Given the description of an element on the screen output the (x, y) to click on. 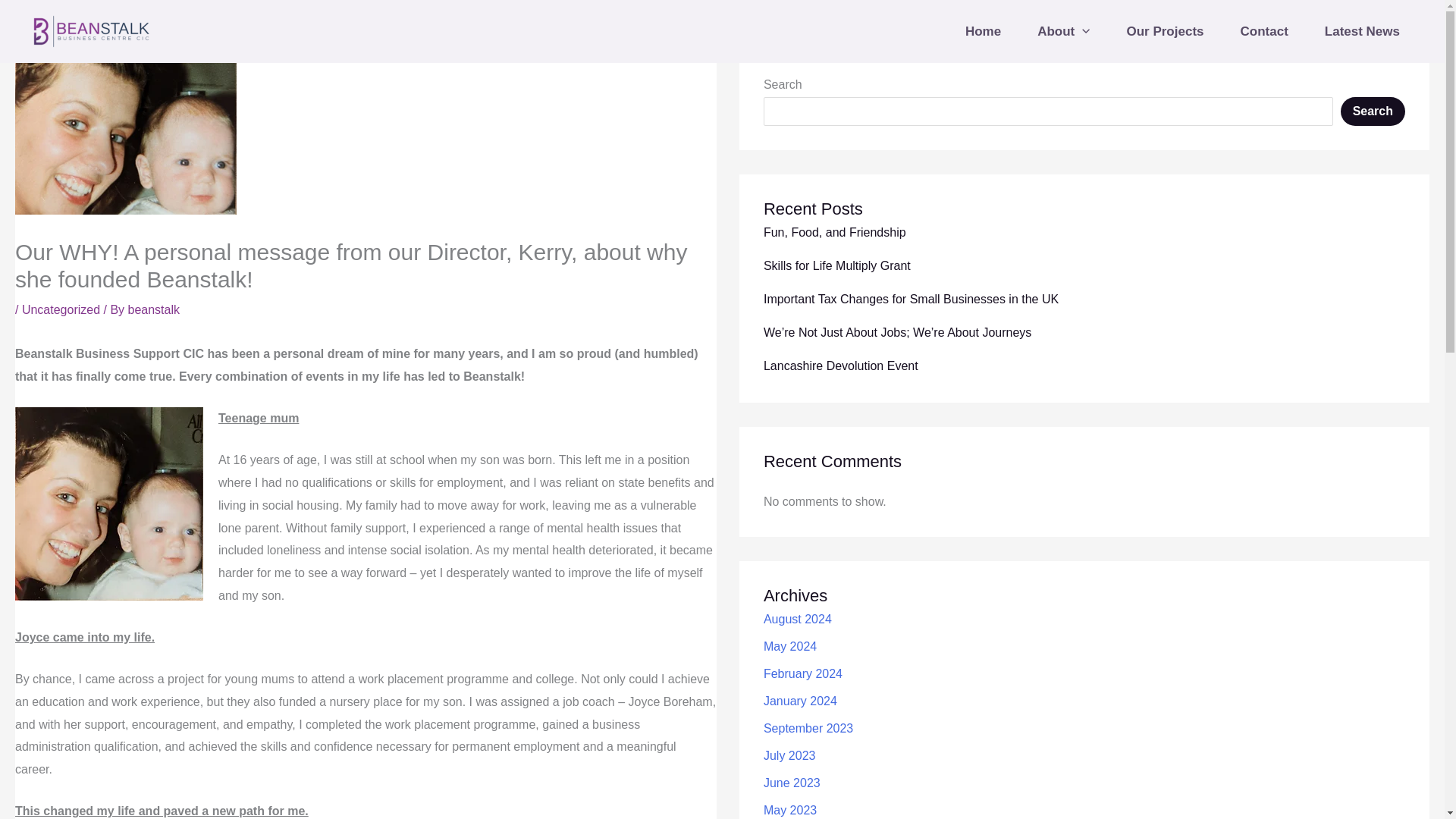
Lancashire Devolution Event (840, 365)
Search (1372, 111)
Home (983, 30)
May 2024 (789, 645)
Skills for Life Multiply Grant (836, 265)
Our Projects (1164, 30)
September 2023 (807, 727)
Fun, Food, and Friendship (833, 232)
Latest News (1362, 30)
Contact (1264, 30)
